Given the description of an element on the screen output the (x, y) to click on. 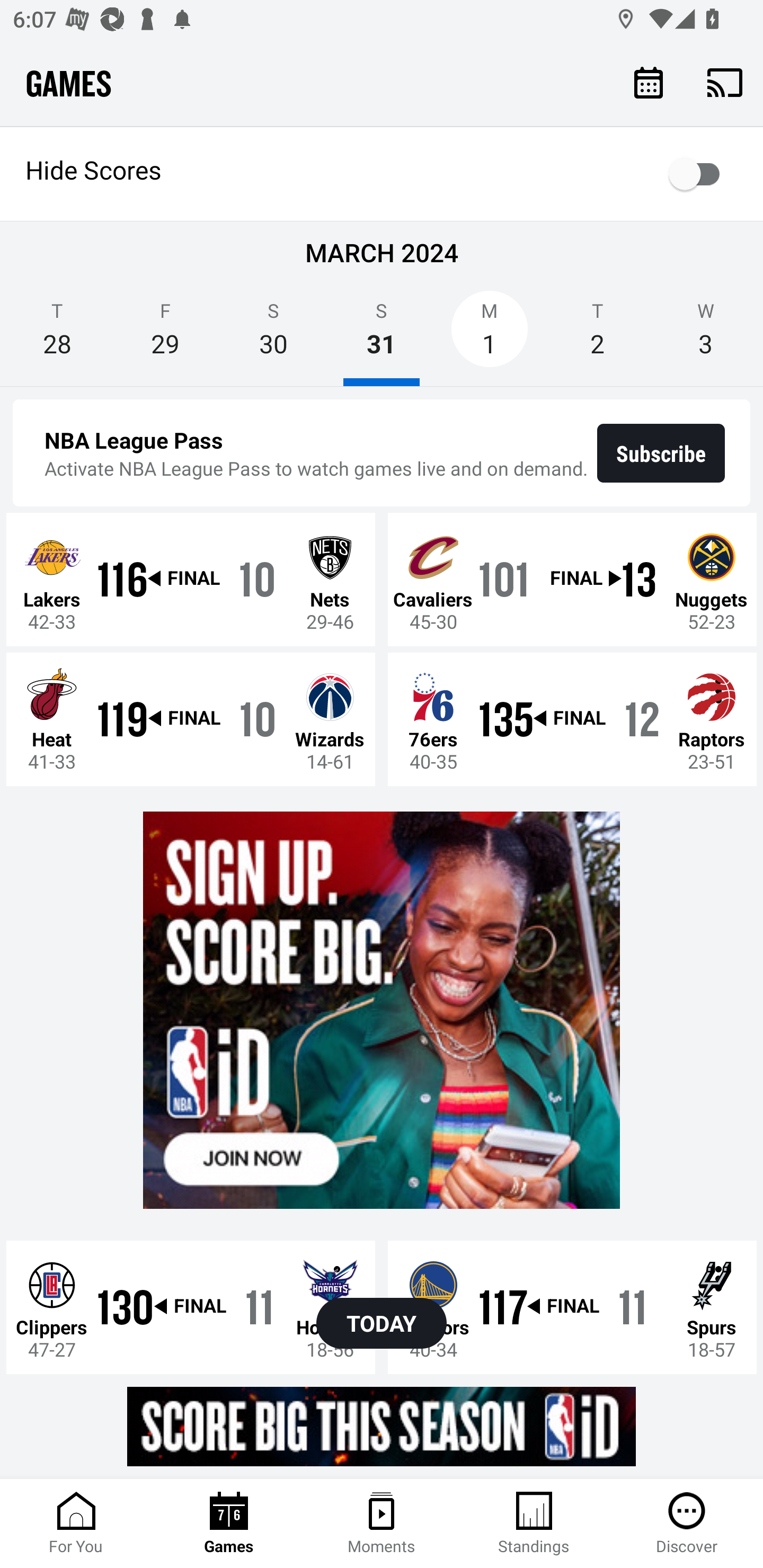
Cast. Disconnected (724, 82)
Calendar (648, 81)
Hide Scores (381, 174)
T 28 (57, 334)
F 29 (165, 334)
S 30 (273, 334)
S 31 (381, 334)
M 1 (489, 334)
T 2 (597, 334)
W 3 (705, 334)
Subscribe (660, 452)
Lakers 42-33 116 FINAL 104 Nets 29-46 (190, 579)
Cavaliers 45-30 101 FINAL 130 Nuggets 52-23 (571, 579)
Heat 41-33 119 FINAL 107 Wizards 14-61 (190, 718)
76ers 40-35 135 FINAL 120 Raptors 23-51 (571, 718)
g5nqqygr7owph (381, 1010)
g5nqqygr7owph (381, 1010)
Clippers 47-27 130 FINAL 118 Hornets 18-56 (190, 1306)
Warriors 40-34 117 FINAL 113 Spurs 18-57 (571, 1306)
TODAY (381, 1323)
g5nqqygr7owph (381, 1426)
For You (76, 1523)
Moments (381, 1523)
Standings (533, 1523)
Discover (686, 1523)
